Given the description of an element on the screen output the (x, y) to click on. 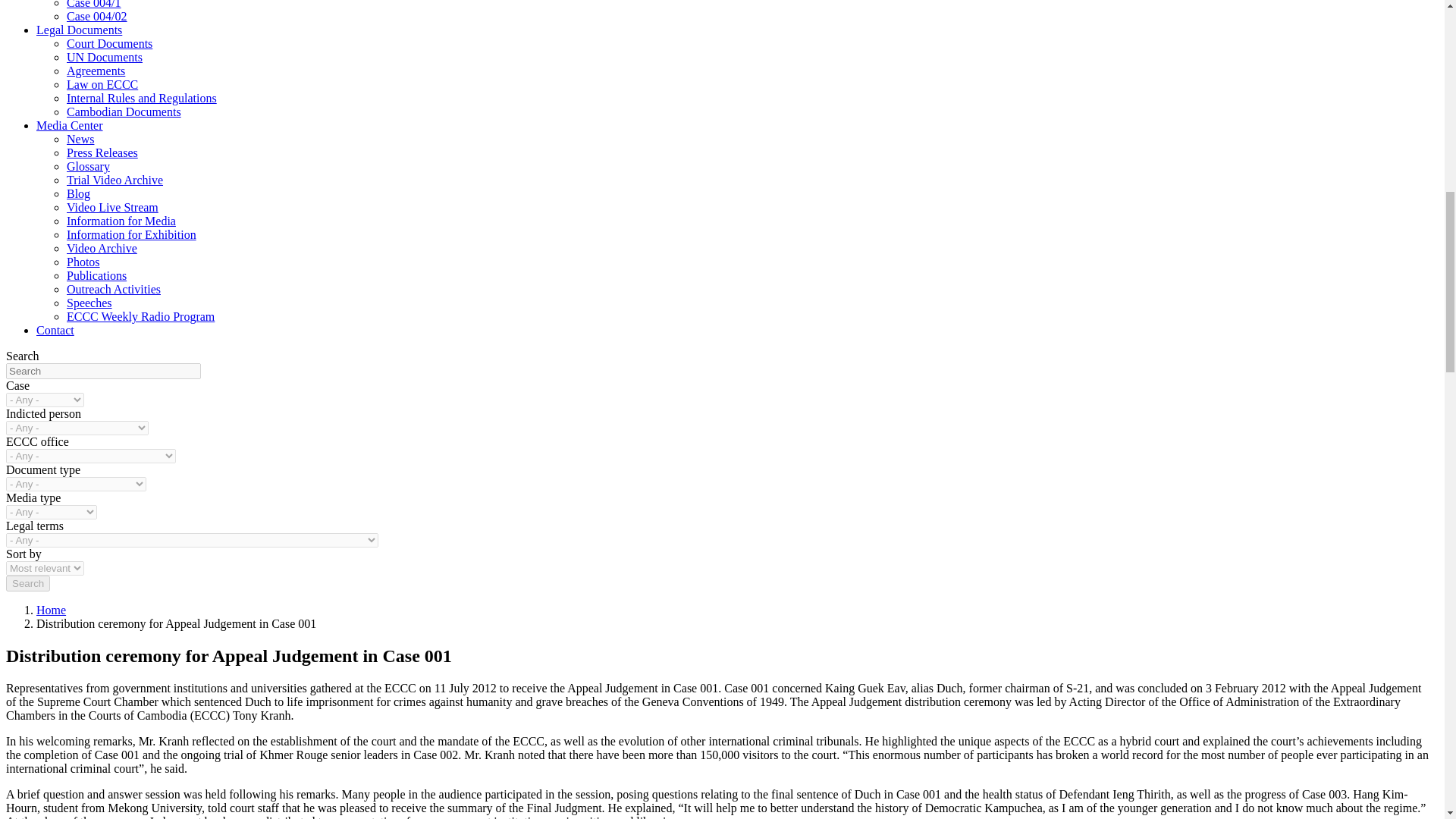
UN Documents (104, 56)
Law on ECCC (102, 83)
Press Releases (102, 152)
Legal Documents (79, 29)
Agreements (95, 70)
Speeches (89, 302)
Court Documents (109, 42)
Publications (96, 275)
